Given the description of an element on the screen output the (x, y) to click on. 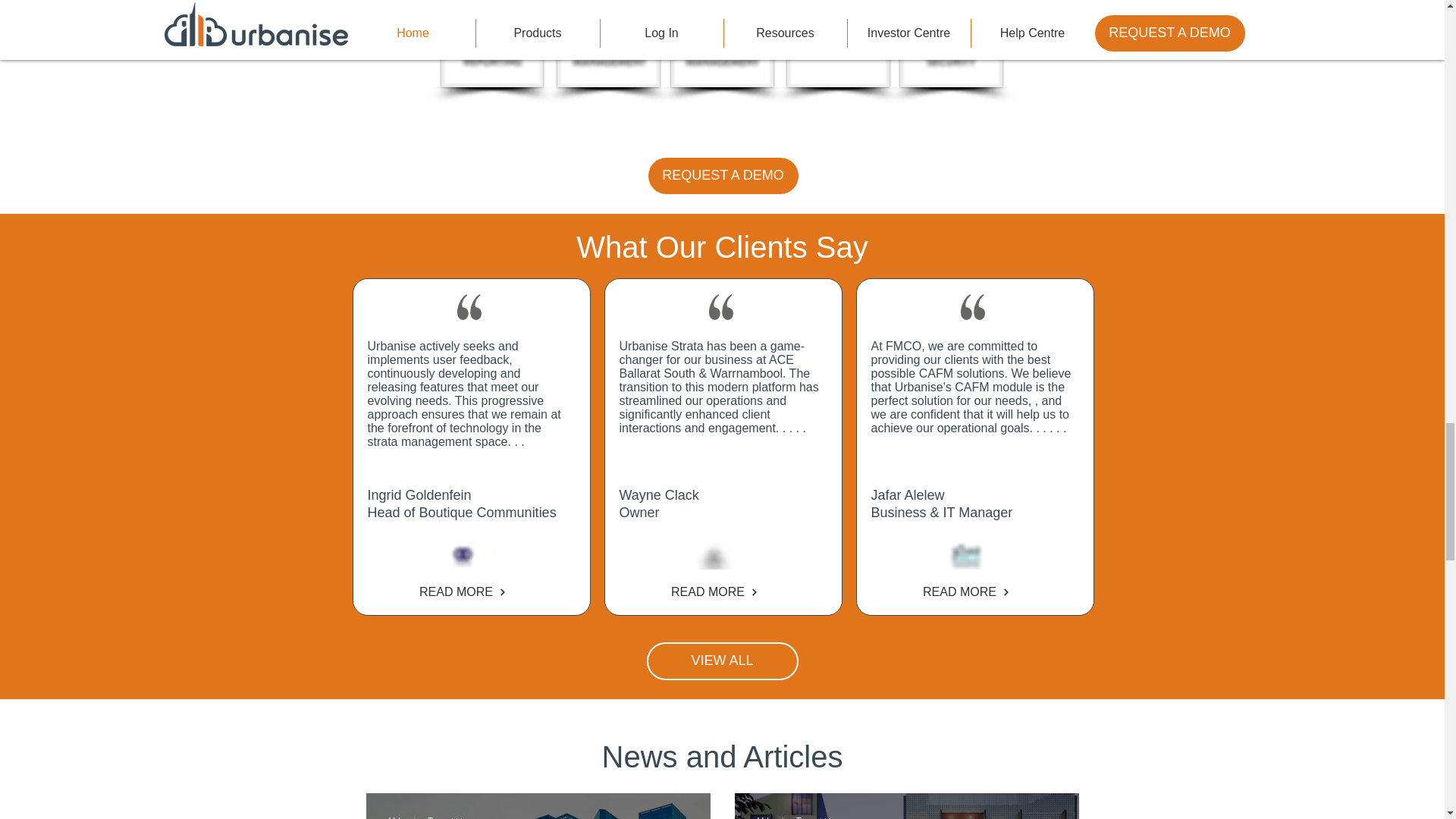
Urbanise Team (786, 817)
READ MORE (966, 592)
REQUEST A DEMO (723, 175)
READ MORE (462, 592)
ACE Logo Resize.jpg (714, 555)
Urbanise Team (418, 817)
FMCO Testimonial Logo.png (966, 555)
News and Articles (722, 756)
READ MORE (714, 592)
OccamStrata.jpg (462, 555)
VIEW ALL (721, 661)
